Given the description of an element on the screen output the (x, y) to click on. 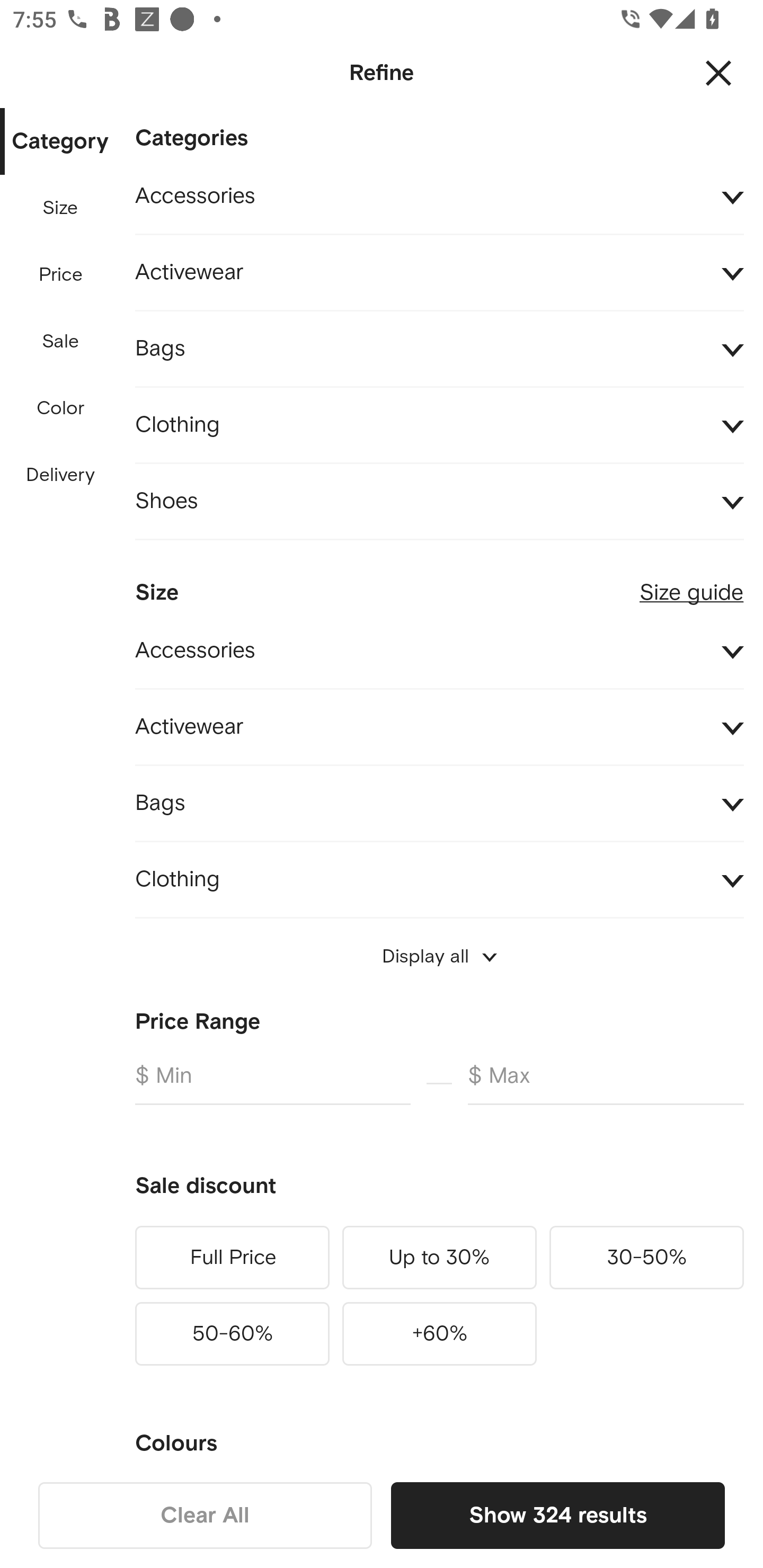
Category (60, 141)
Accessories (439, 196)
Size (60, 208)
Activewear (439, 272)
Price (60, 274)
Sale (60, 342)
Bags (439, 348)
Color (60, 408)
Clothing (439, 425)
Delivery (60, 475)
Shoes (439, 501)
Size guide (691, 585)
Accessories (439, 651)
Activewear (439, 727)
Bags (439, 803)
Clothing (439, 879)
Display all (439, 956)
$ Min (272, 1083)
$ Max (605, 1083)
Full Price (232, 1257)
Up to 30% (439, 1257)
30-50% (646, 1257)
50-60% (232, 1333)
+60% (439, 1333)
Clear All (205, 1515)
Show 324 results (557, 1515)
